Given the description of an element on the screen output the (x, y) to click on. 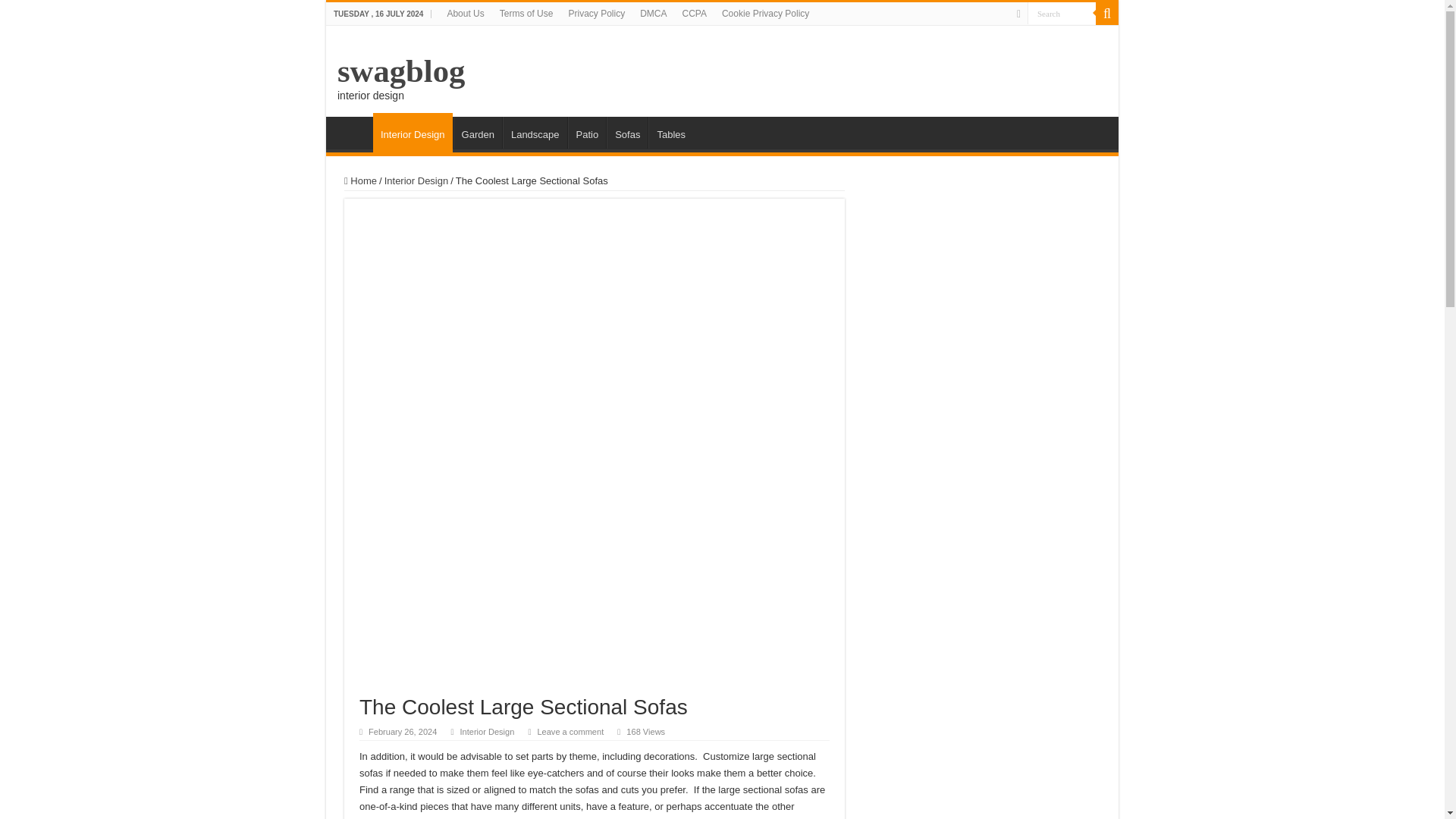
Cookie Privacy Policy (765, 13)
Rss (1018, 13)
CCPA (694, 13)
Landscape (534, 132)
Search (1061, 13)
Patio (587, 132)
Interior Design (486, 731)
Sofas (627, 132)
About Us (465, 13)
Garden (477, 132)
Home (352, 132)
Search (1107, 13)
DMCA (652, 13)
swagblog (400, 70)
Interior Design (416, 180)
